Given the description of an element on the screen output the (x, y) to click on. 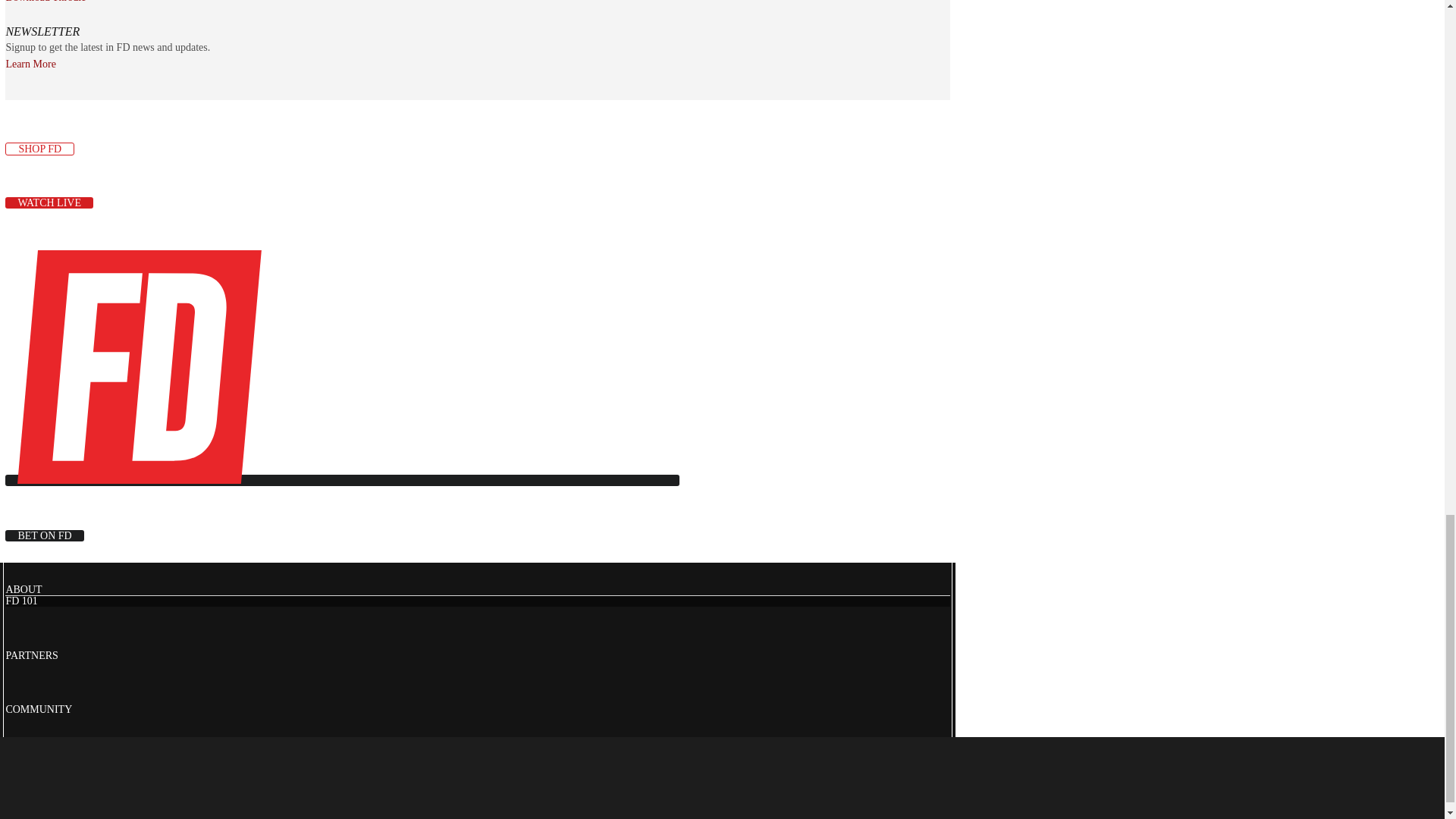
ABOUT (23, 589)
FD 101 (21, 600)
PARTNERS (31, 655)
Learn More (30, 63)
Download Throdle (45, 1)
WATCH LIVE (49, 202)
COMMUNITY (38, 708)
SHOP FD (39, 148)
BET ON FD (43, 535)
